Given the description of an element on the screen output the (x, y) to click on. 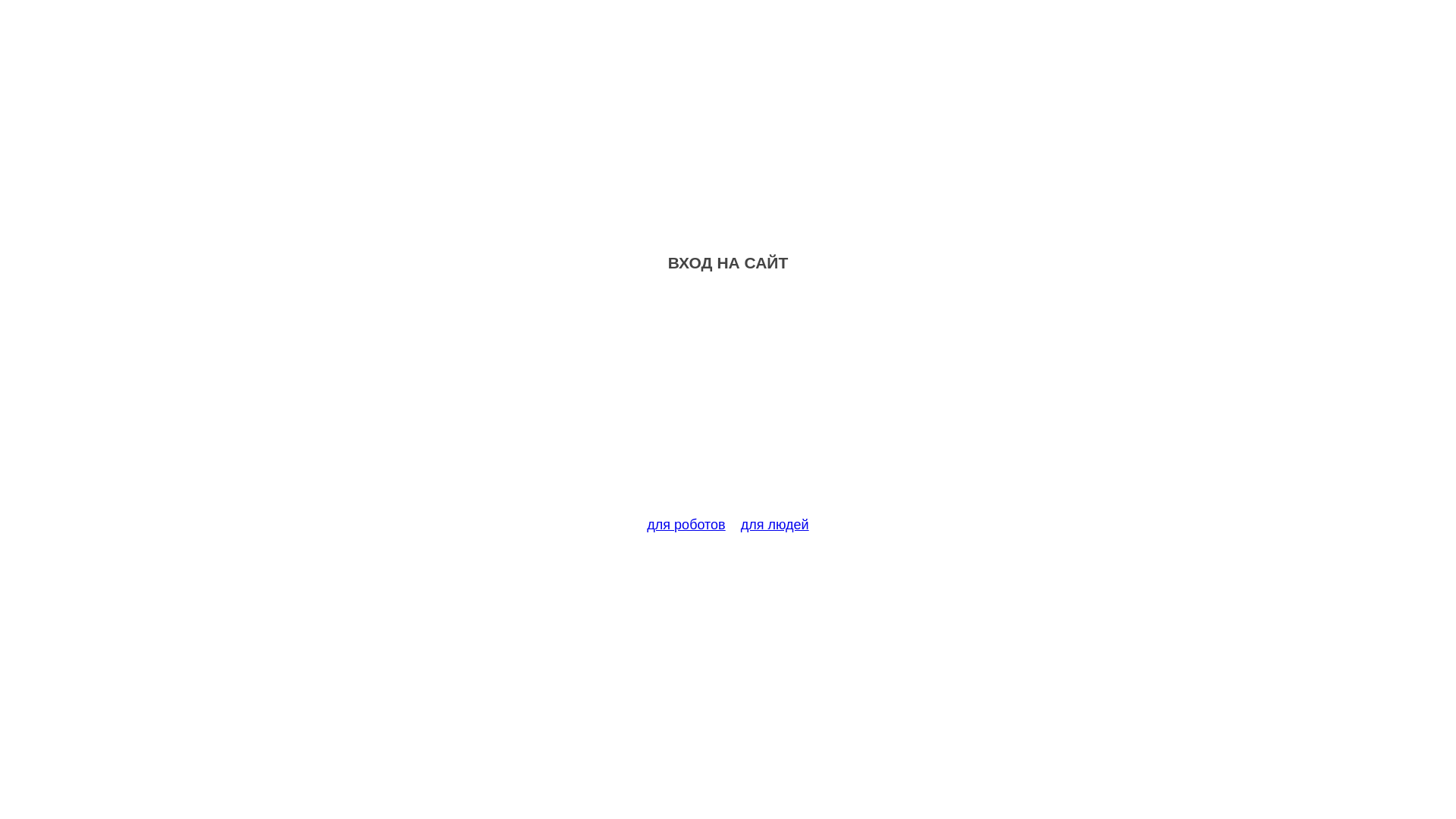
Advertisement Element type: hover (727, 403)
